Given the description of an element on the screen output the (x, y) to click on. 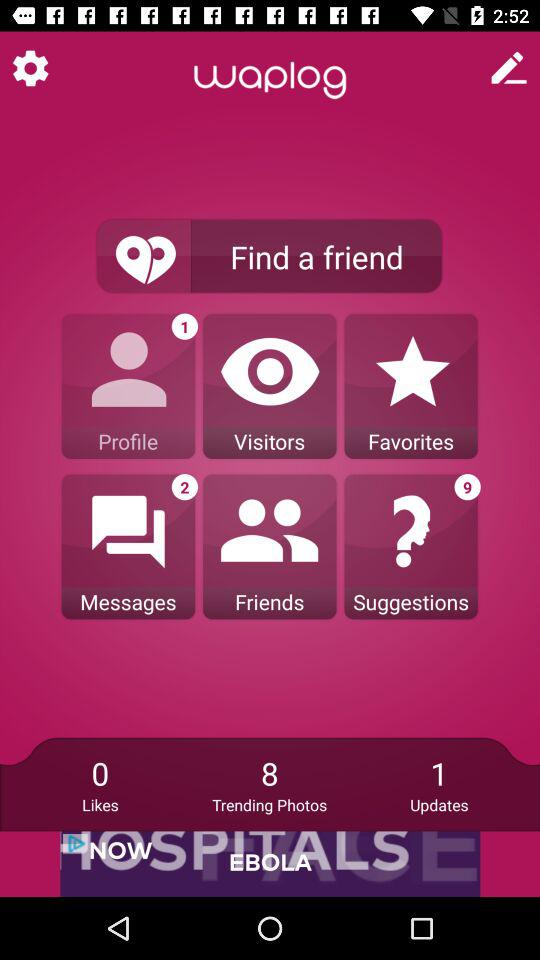
view settings (30, 68)
